Given the description of an element on the screen output the (x, y) to click on. 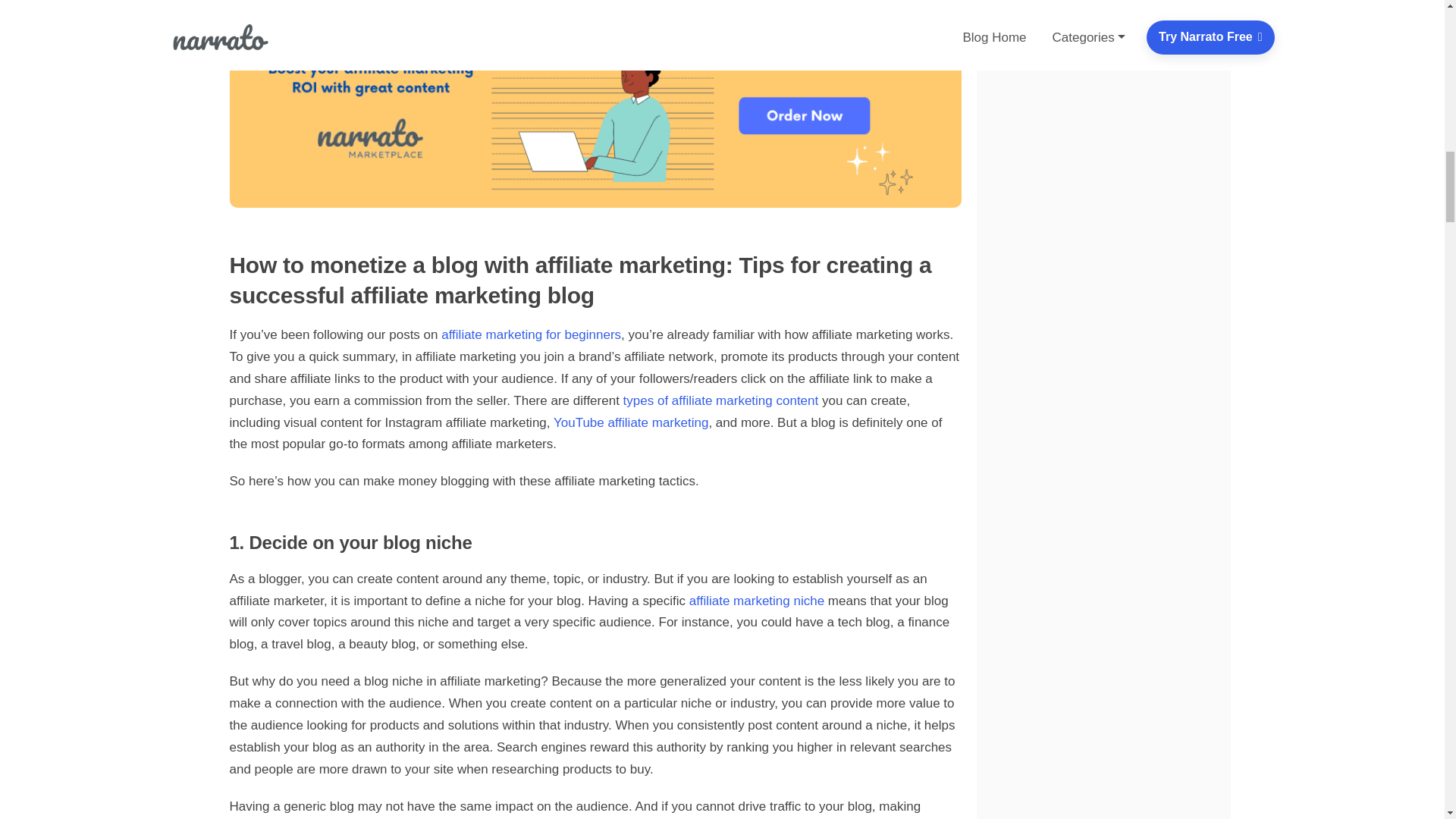
types of affiliate marketing content (720, 400)
YouTube affiliate marketing (630, 422)
affiliate marketing niche (756, 600)
affiliate marketing for beginners (531, 334)
